Given the description of an element on the screen output the (x, y) to click on. 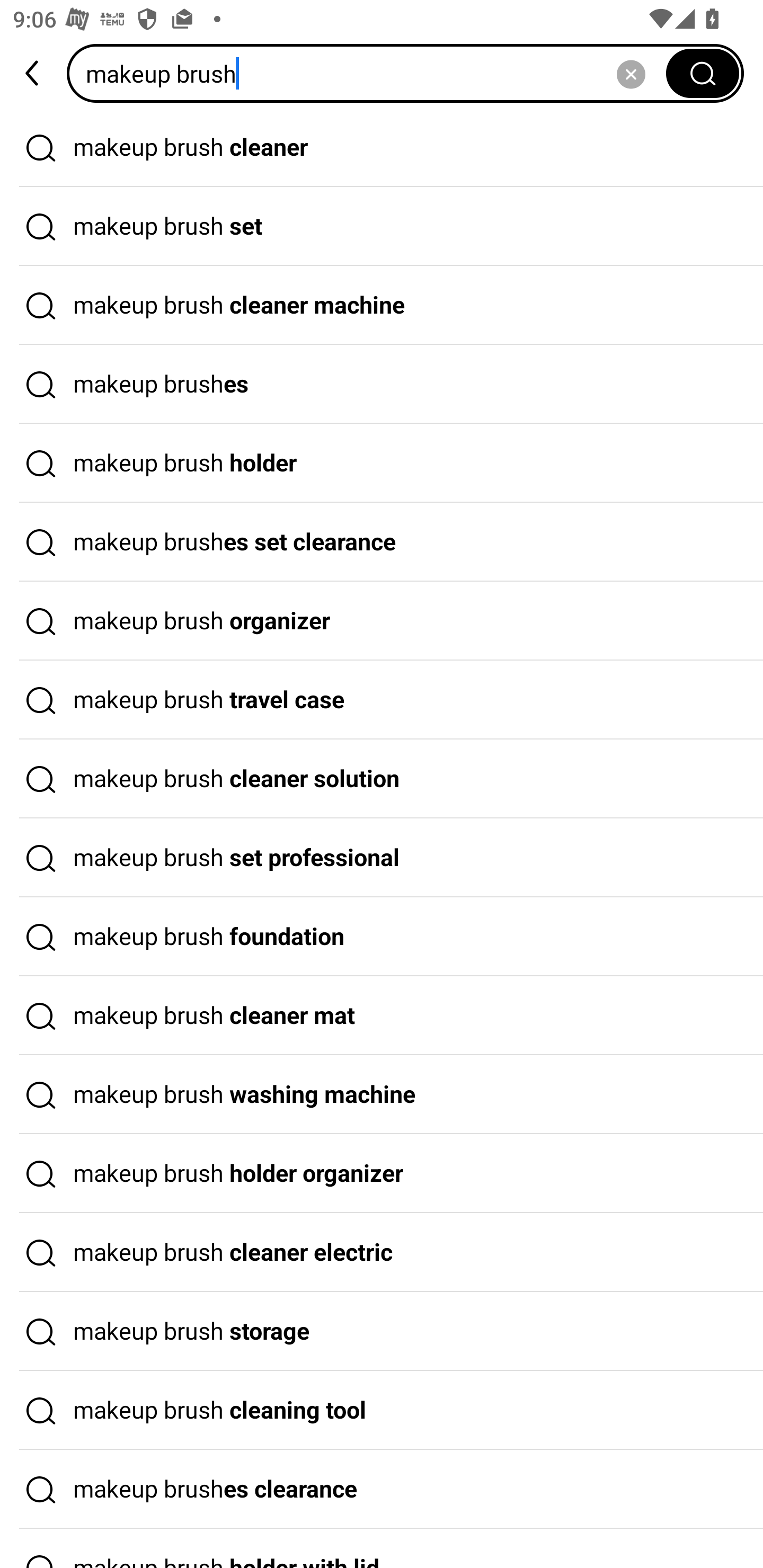
back (33, 72)
makeup brush (372, 73)
Delete search history (630, 73)
makeup brush cleaner (381, 147)
makeup brush set (381, 226)
makeup brush cleaner machine (381, 305)
makeup brushes (381, 383)
makeup brush holder (381, 463)
makeup brushes set clearance (381, 542)
makeup brush organizer (381, 620)
makeup brush travel case (381, 700)
makeup brush cleaner solution (381, 779)
makeup brush set professional (381, 857)
makeup brush foundation (381, 936)
makeup brush cleaner mat (381, 1015)
makeup brush washing machine (381, 1094)
makeup brush holder organizer (381, 1173)
makeup brush cleaner electric (381, 1252)
makeup brush storage (381, 1331)
makeup brush cleaning tool (381, 1410)
makeup brushes clearance (381, 1489)
